Given the description of an element on the screen output the (x, y) to click on. 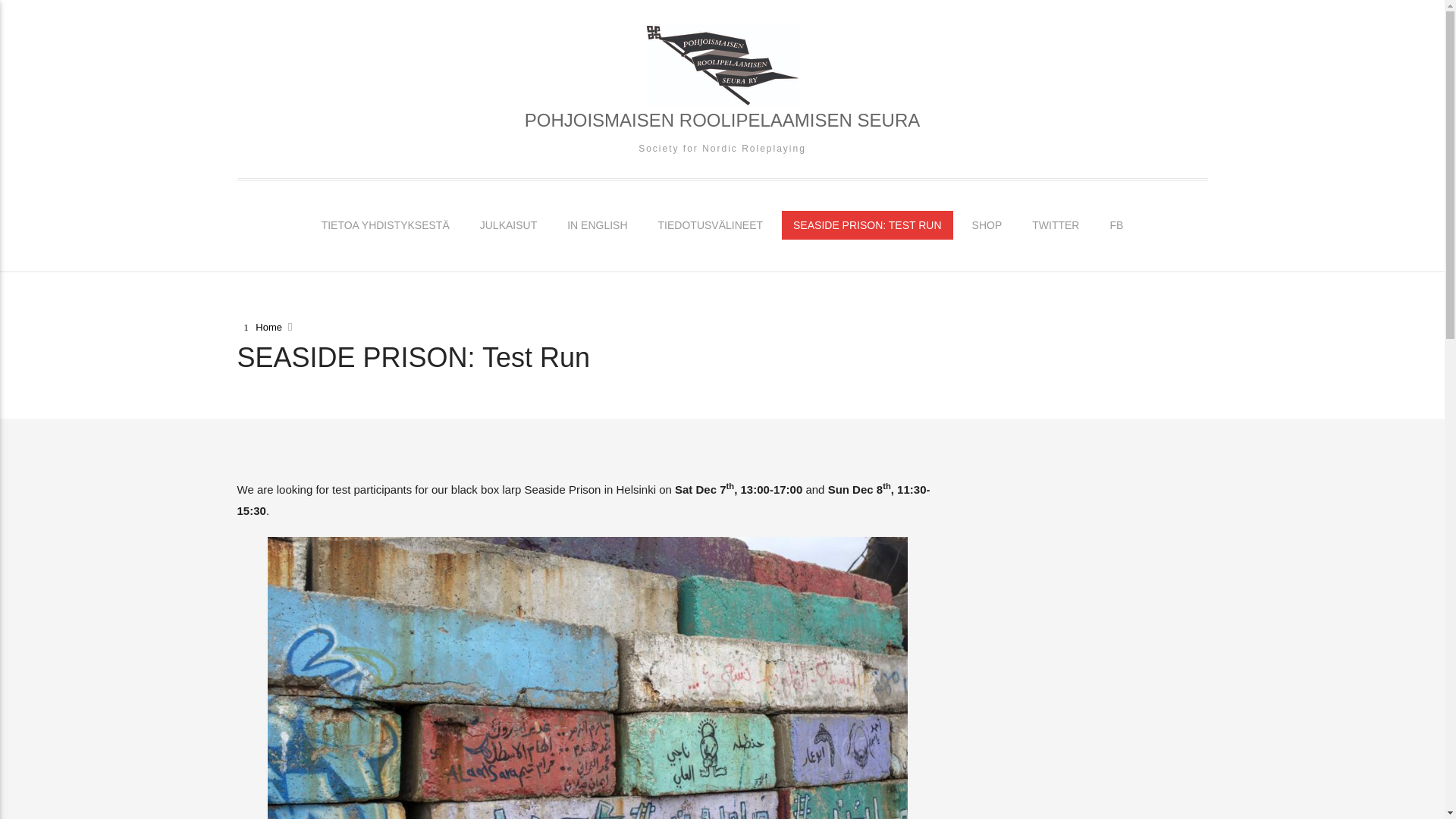
TWITTER (1055, 224)
go to home (261, 327)
SHOP (986, 224)
Home (261, 327)
Society for Nordic Roleplaying (721, 148)
FB (1115, 224)
SEASIDE PRISON: TEST RUN (867, 224)
